Given the description of an element on the screen output the (x, y) to click on. 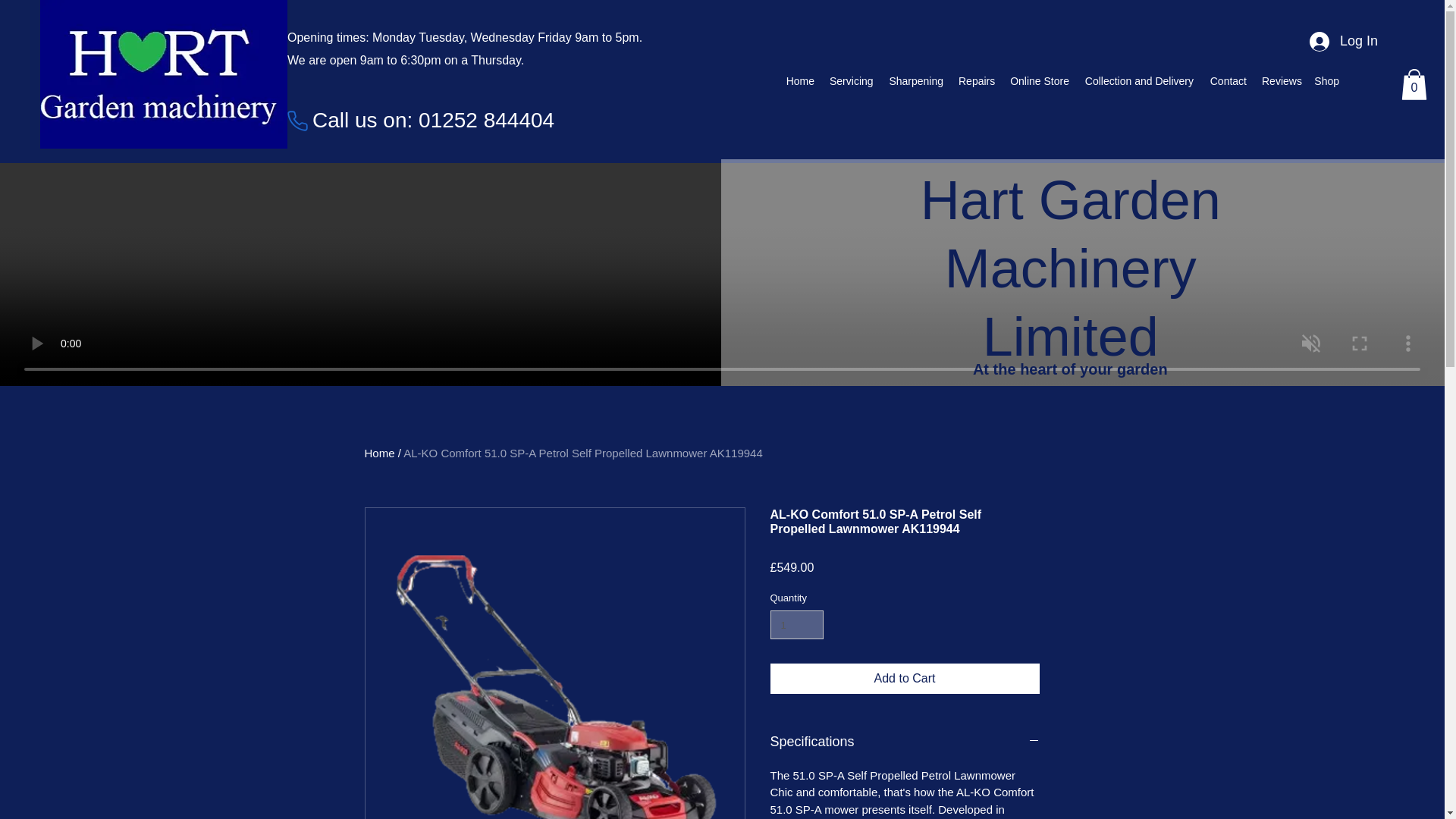
Repairs (975, 81)
Collection and Delivery (1139, 81)
Contact (1227, 81)
Reviews (1279, 81)
Log In (1343, 41)
Sharpening (915, 81)
Home (799, 81)
Add to Cart (904, 678)
Specifications (904, 742)
1 (797, 624)
Home (379, 452)
